Given the description of an element on the screen output the (x, y) to click on. 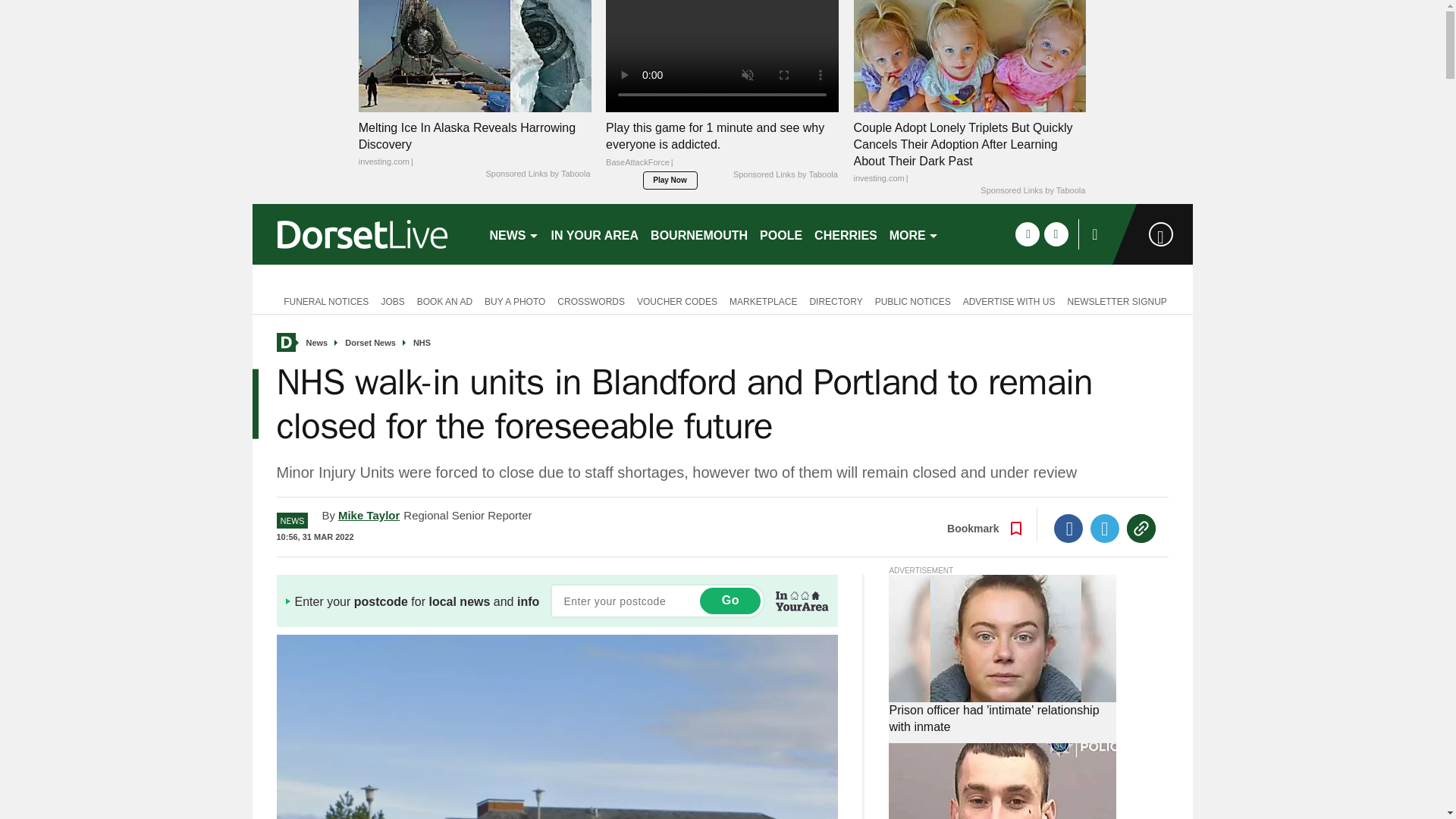
Sponsored Links by Taboola (536, 174)
POOLE (781, 233)
IN YOUR AREA (594, 233)
Melting Ice In Alaska Reveals Harrowing Discovery (474, 55)
twitter (1055, 233)
NEWS (513, 233)
Melting Ice In Alaska Reveals Harrowing Discovery (474, 144)
Go (730, 601)
facebook (1026, 233)
Twitter (1104, 528)
CHERRIES (845, 233)
